Given the description of an element on the screen output the (x, y) to click on. 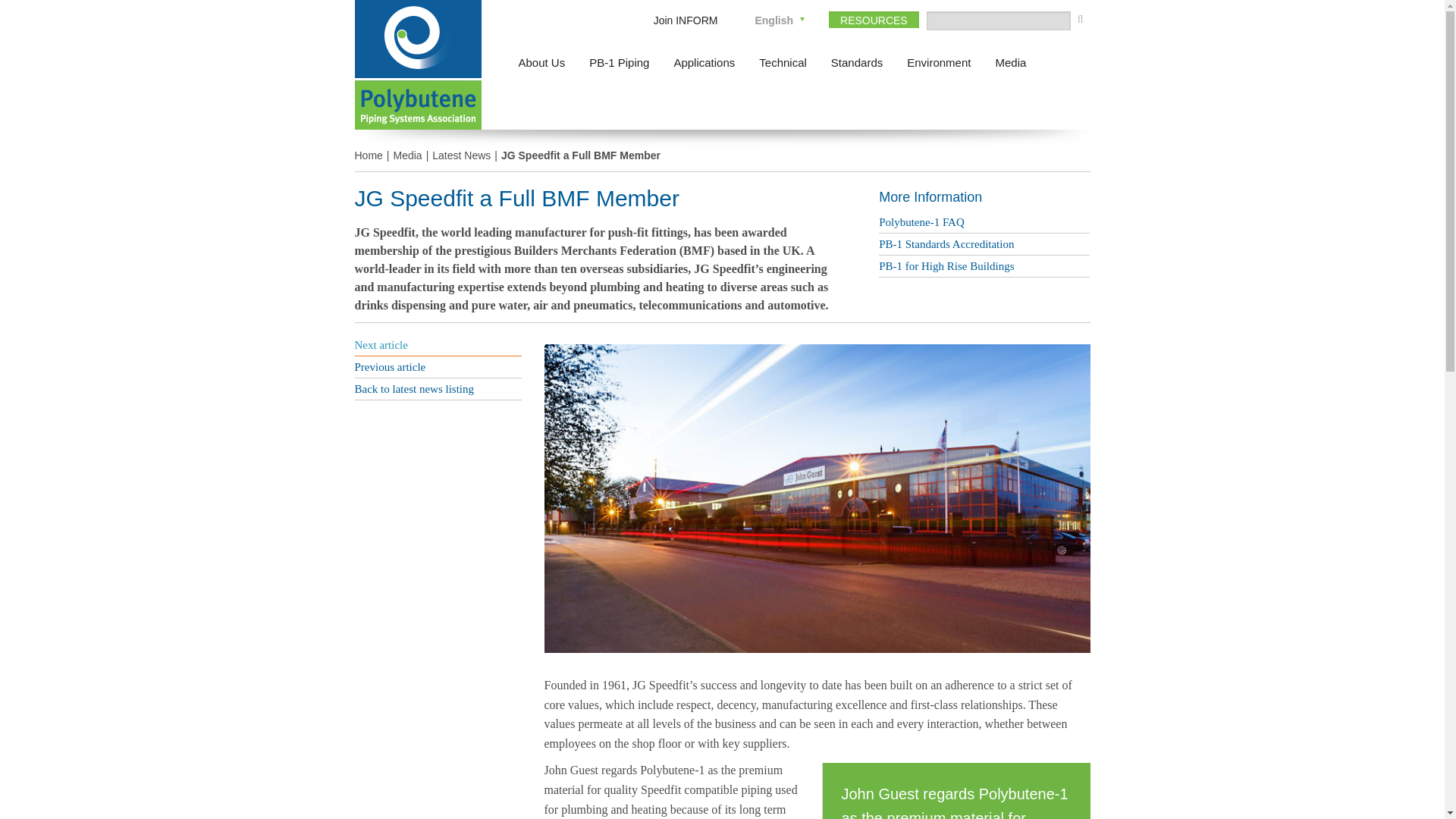
About Us (542, 62)
Standards (856, 62)
Join INFORM (685, 20)
Polybutene Piping Systems Association (418, 104)
PB-1 Piping (618, 62)
RESOURCES (873, 19)
Polybutene Piping Systems Association (418, 40)
Technical (782, 62)
English (774, 20)
Applications (703, 62)
